Given the description of an element on the screen output the (x, y) to click on. 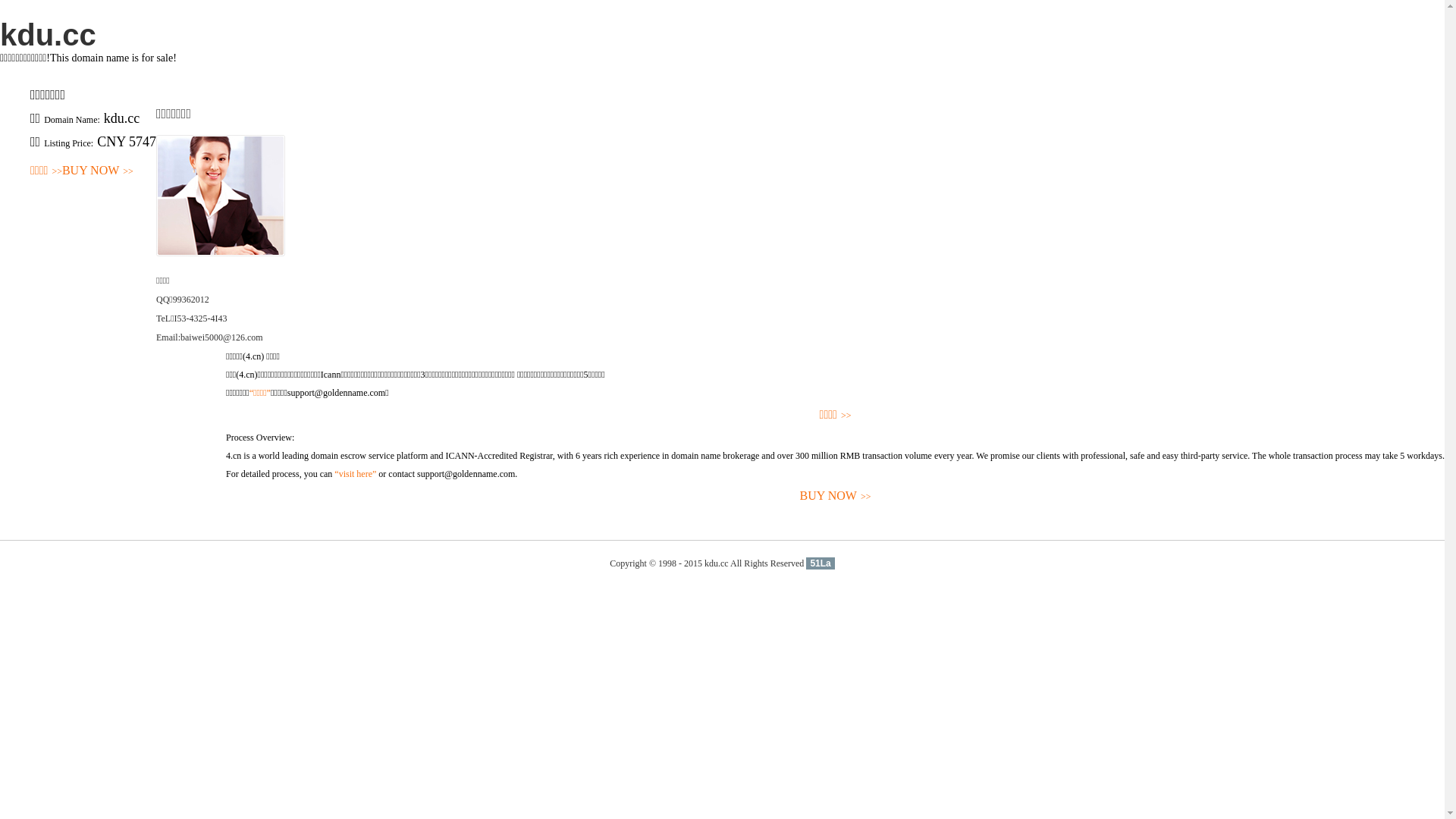
BUY NOW>> Element type: text (834, 496)
BUY NOW>> Element type: text (97, 170)
51La Element type: text (820, 563)
